Given the description of an element on the screen output the (x, y) to click on. 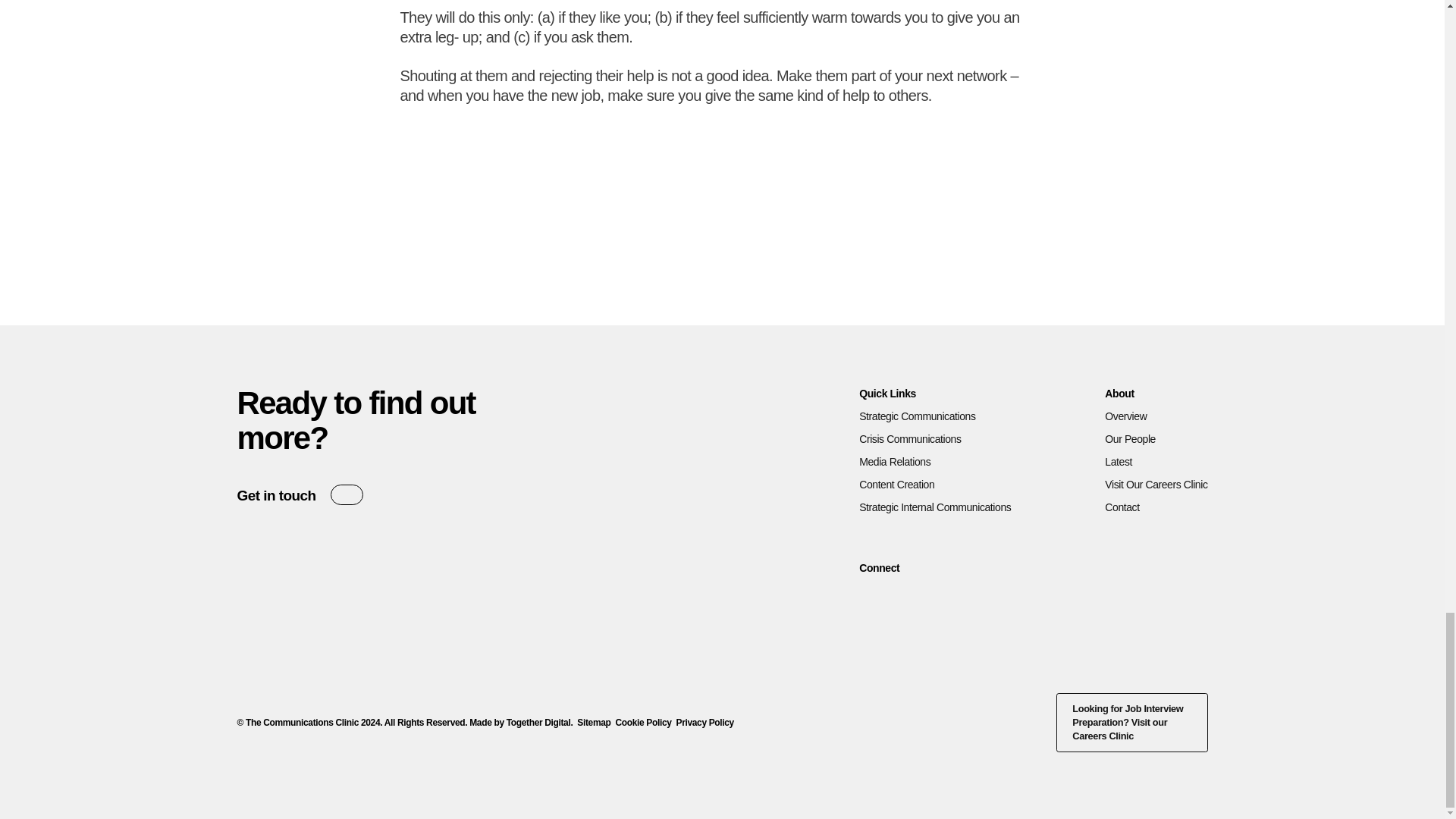
Facebook (651, 234)
Twitter (686, 234)
LinkedIn (867, 599)
Email (756, 234)
LinkedIn (721, 234)
WhatsApp (791, 234)
